Given the description of an element on the screen output the (x, y) to click on. 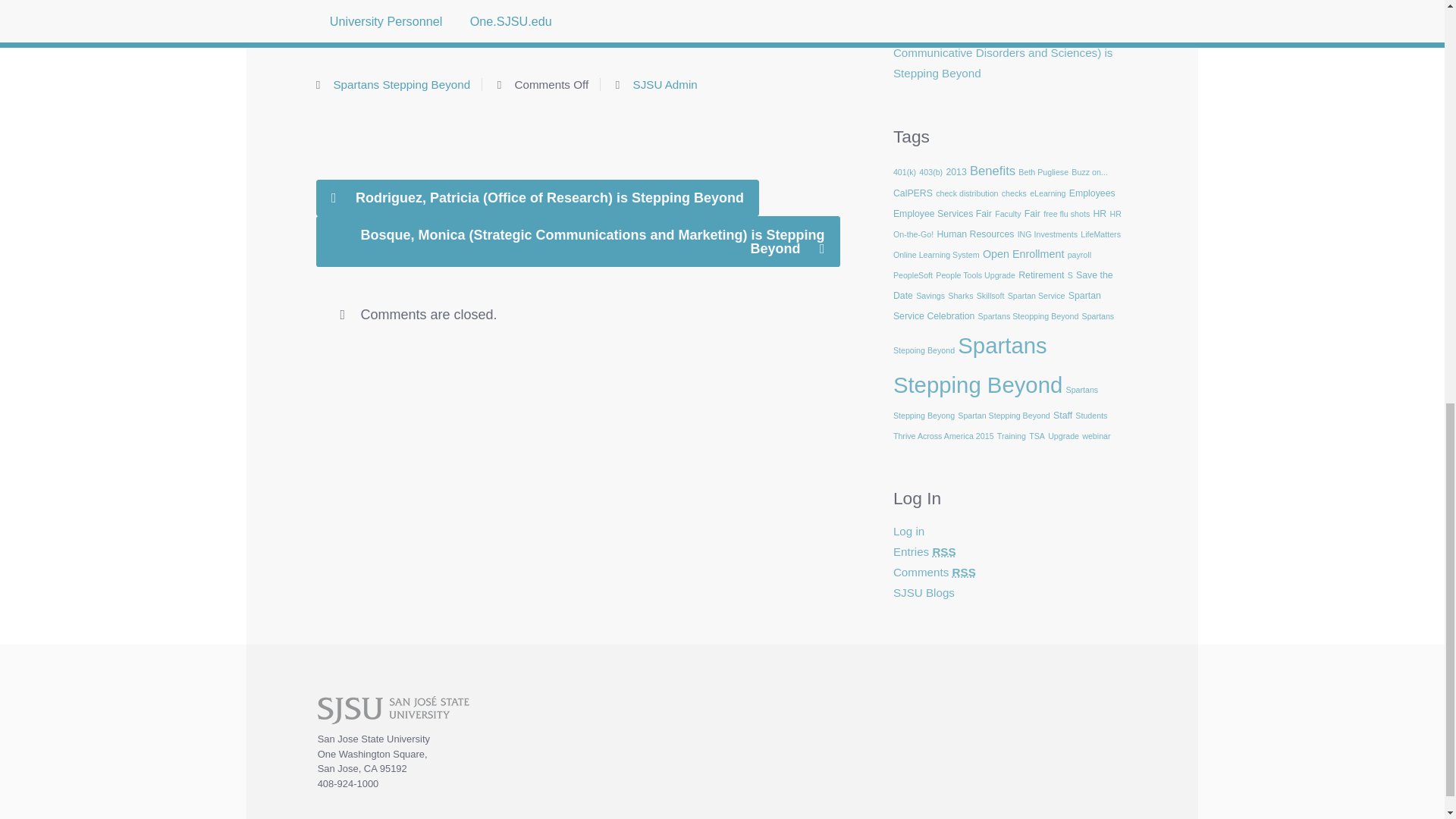
Faculty (1007, 213)
ING Investments (1047, 234)
Posts by SJSU Admin (665, 83)
Syndicate this site using RSS 2.0 (924, 551)
Really Simple Syndication (963, 571)
Powered by SJSU Blogs (924, 592)
HR (1099, 213)
Really Simple Syndication (943, 551)
2013 (955, 172)
check distribution (966, 193)
checks (1013, 193)
Employees (1091, 193)
Human Resources (974, 234)
eLearning (1047, 193)
The latest comments to all posts in RSS (934, 571)
